Given the description of an element on the screen output the (x, y) to click on. 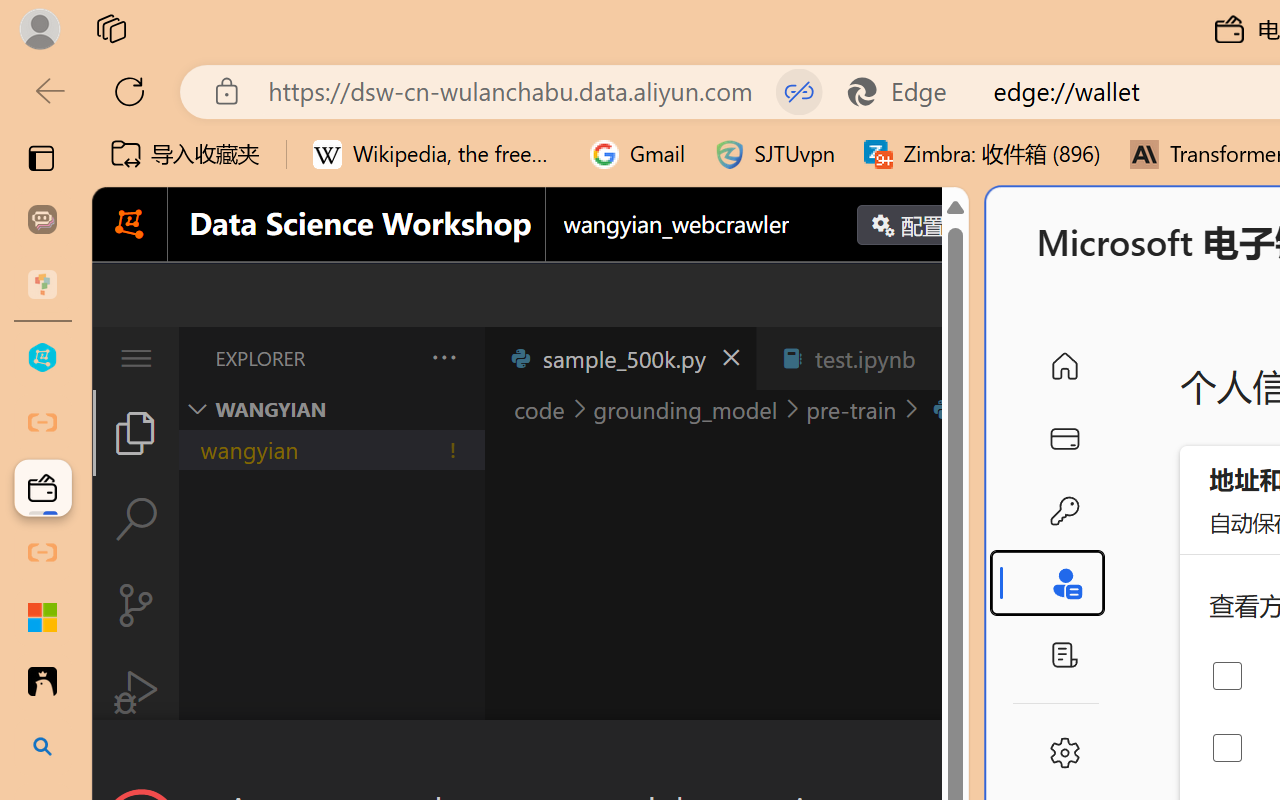
sample_500k.py (619, 358)
test.ipynb (864, 358)
wangyian_dsw - DSW (42, 357)
Explorer actions (391, 358)
Views and More Actions... (442, 357)
Explorer Section: wangyian (331, 409)
Class: menubar compact overflow-menu-only (135, 358)
